Given the description of an element on the screen output the (x, y) to click on. 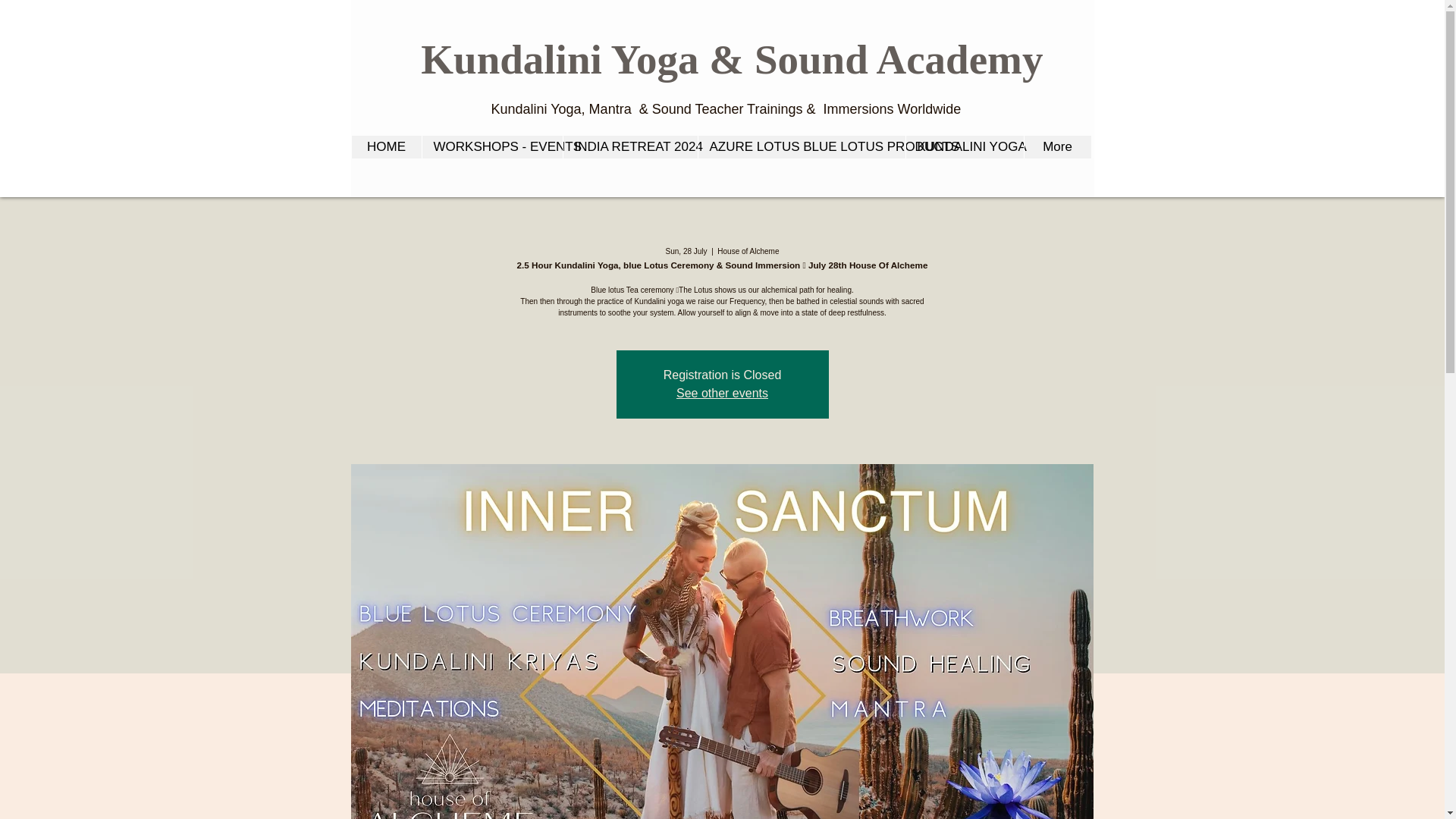
WORKSHOPS - EVENTS (492, 146)
AZURE LOTUS BLUE LOTUS PRODUCTS (801, 146)
KUNDALINI YOGA (964, 146)
See other events (722, 392)
INDIA RETREAT 2024 (629, 146)
HOME (387, 146)
